Given the description of an element on the screen output the (x, y) to click on. 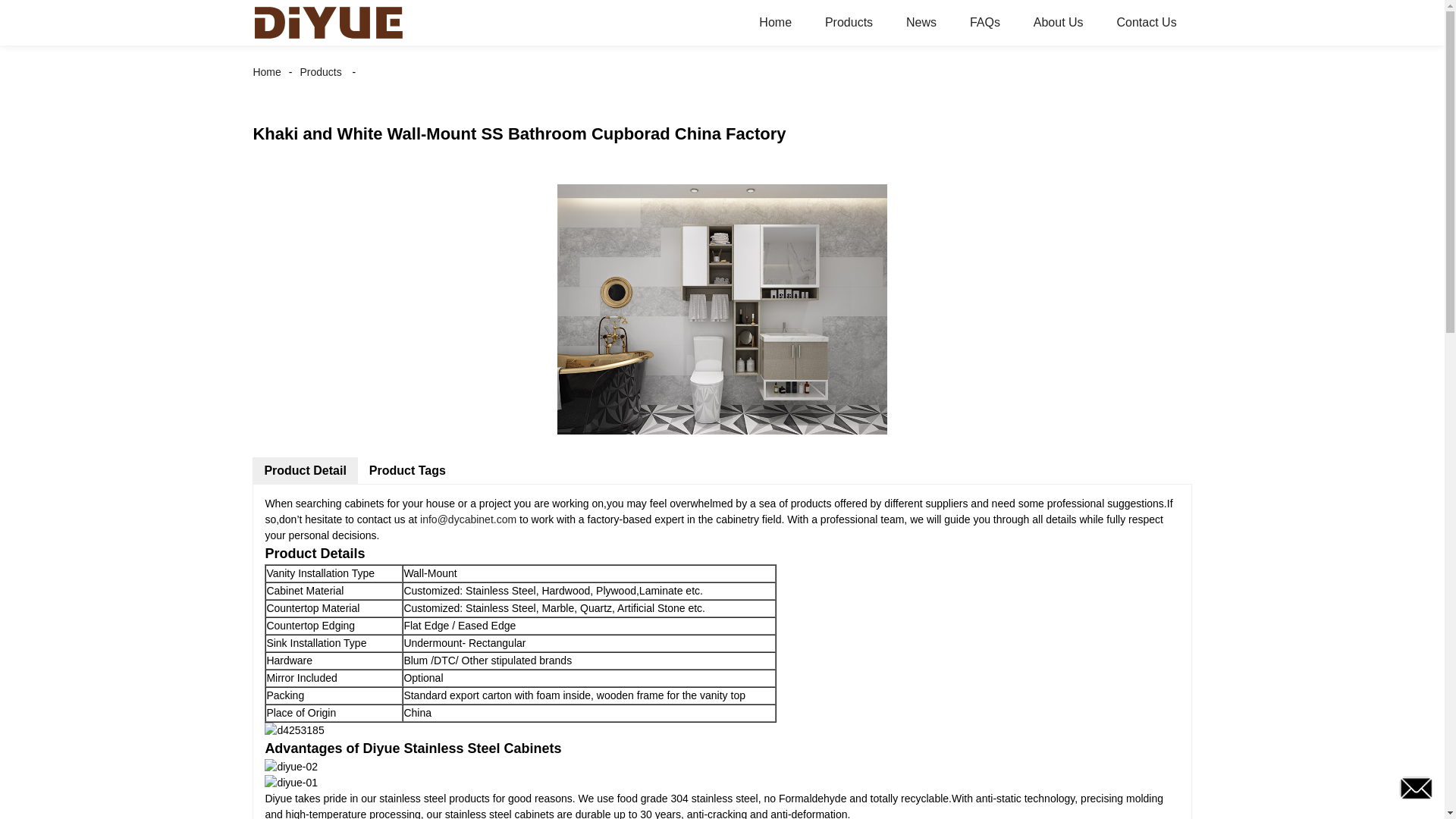
Products (320, 71)
About Us (1058, 22)
FAQs (984, 22)
Home (269, 71)
Products (848, 22)
Products (320, 71)
Contact Us (1145, 22)
News (921, 22)
Home (775, 22)
